Given the description of an element on the screen output the (x, y) to click on. 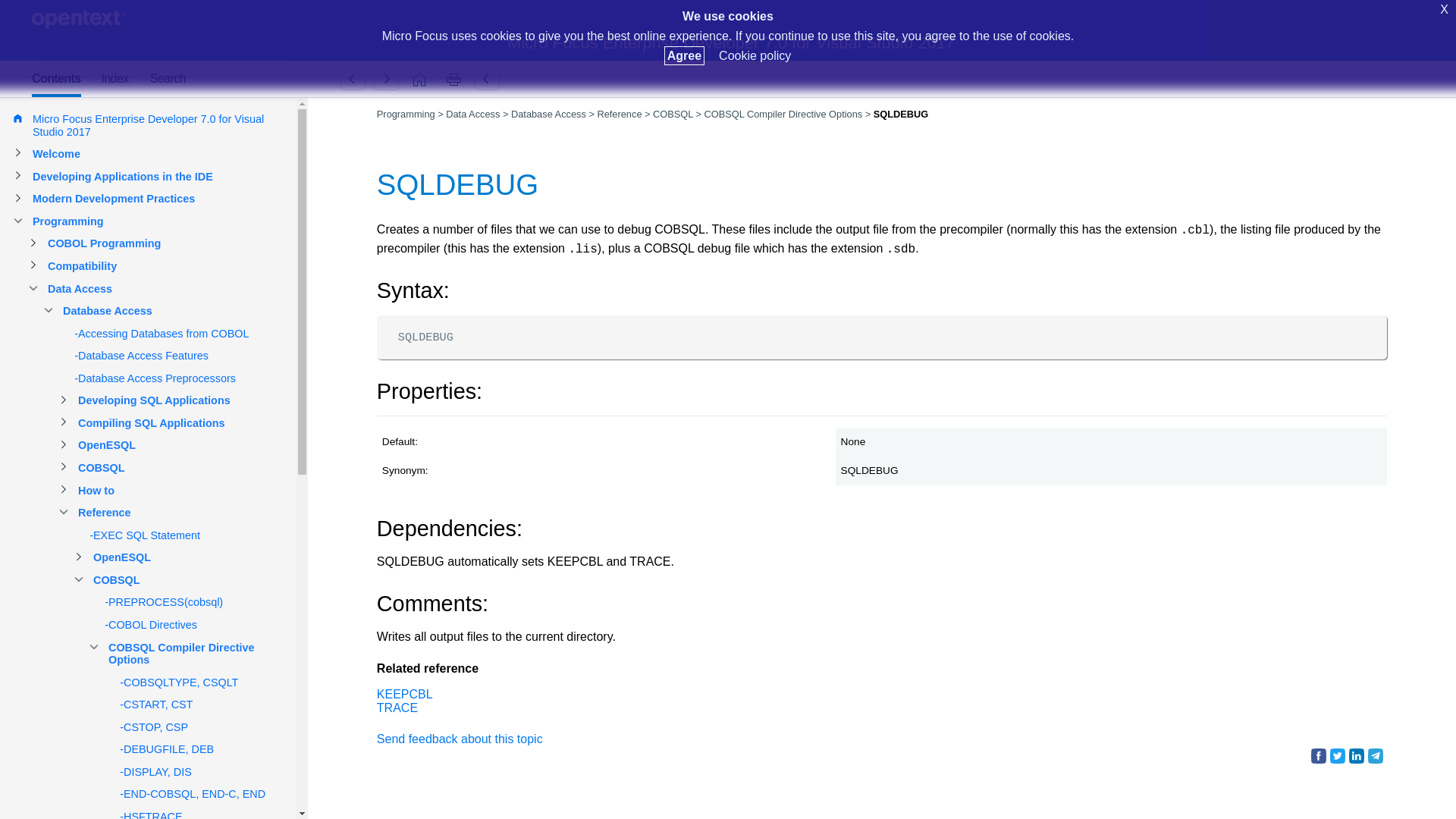
STOPCHK (386, 78)
MAKESYN (352, 78)
Agree (684, 55)
Cookie policy (754, 55)
